Given the description of an element on the screen output the (x, y) to click on. 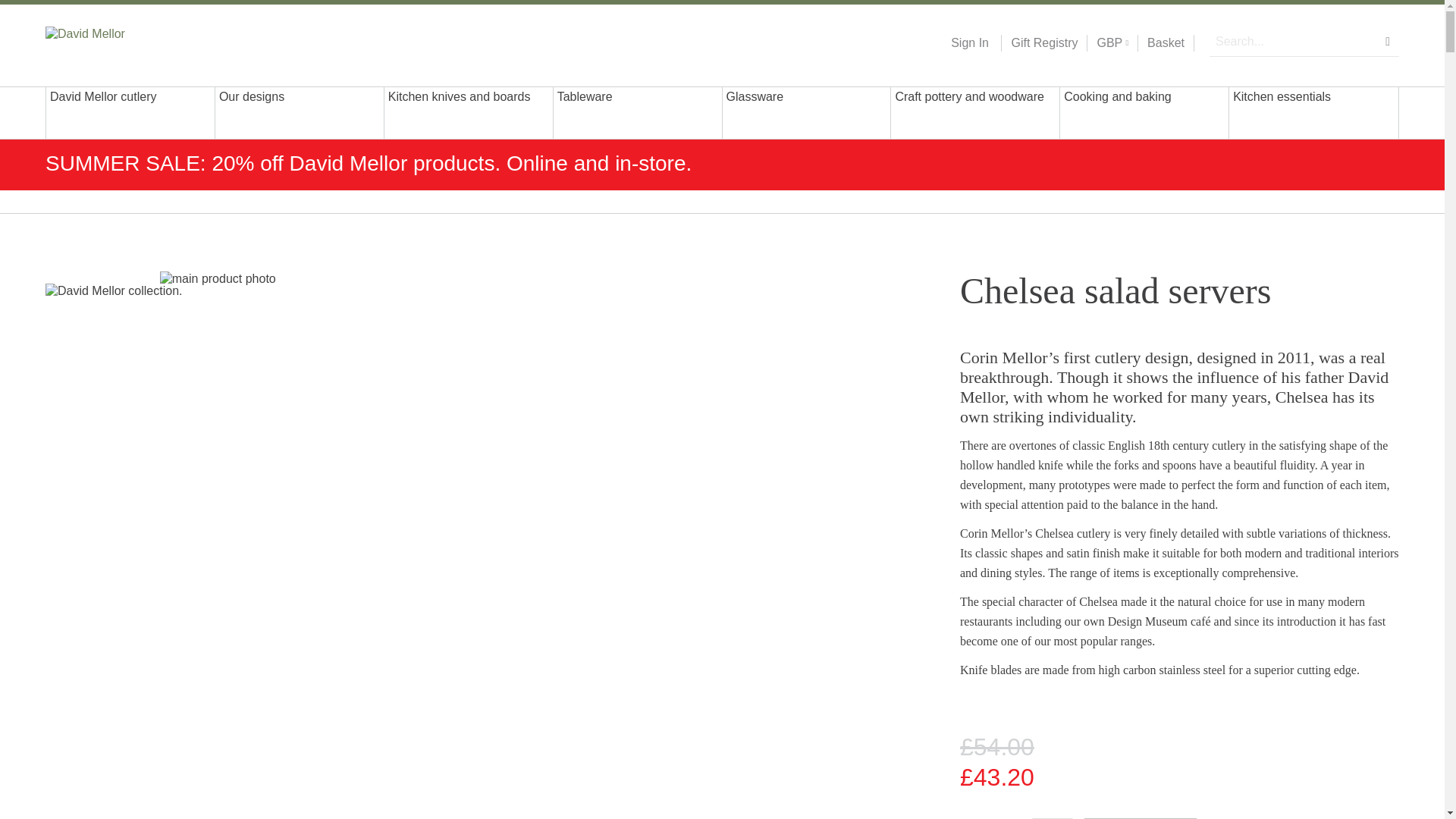
Basket (1166, 43)
Sign In (969, 43)
Gift Registry (1039, 43)
1 (1052, 818)
Search (1388, 41)
Search (1388, 41)
David Mellor cutlery (130, 112)
David Mellor (143, 42)
Qty (1052, 818)
